Given the description of an element on the screen output the (x, y) to click on. 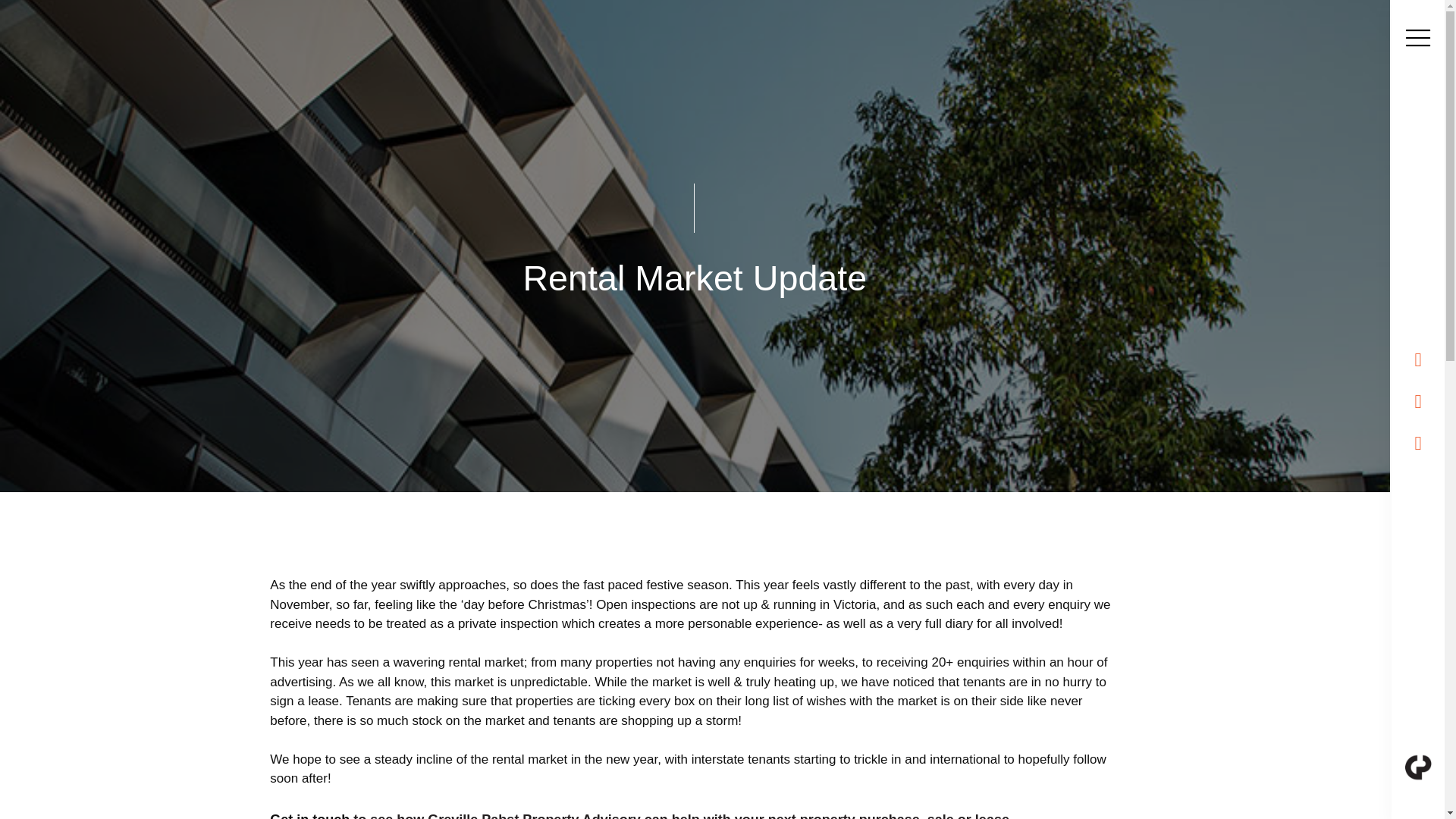
Get in touch (309, 815)
